Given the description of an element on the screen output the (x, y) to click on. 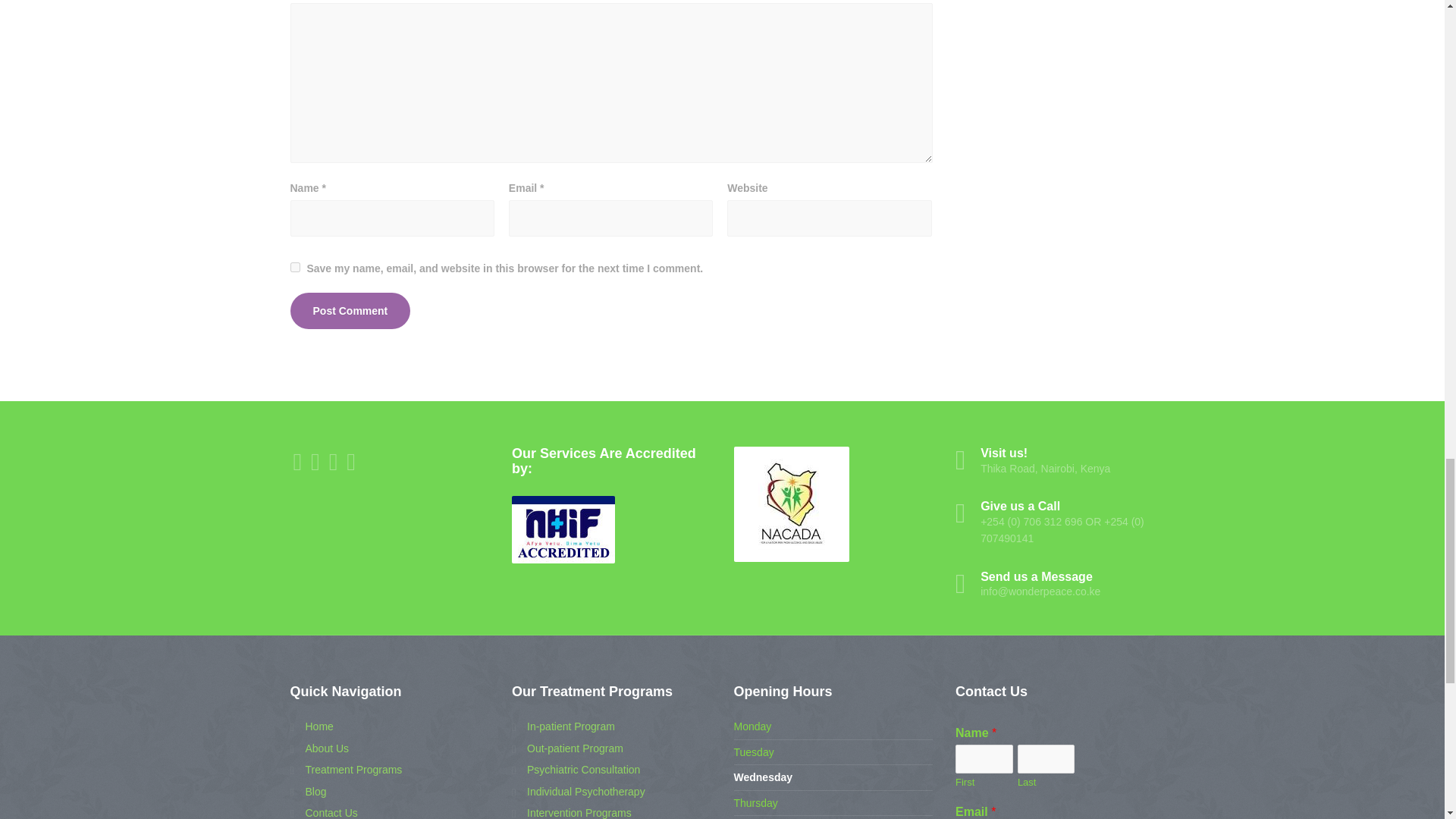
Post Comment (349, 310)
yes (294, 266)
Post Comment (349, 310)
Treatment Programs (345, 769)
Our Services Are Accredited by (563, 529)
About Us (319, 748)
Home (311, 726)
